Given the description of an element on the screen output the (x, y) to click on. 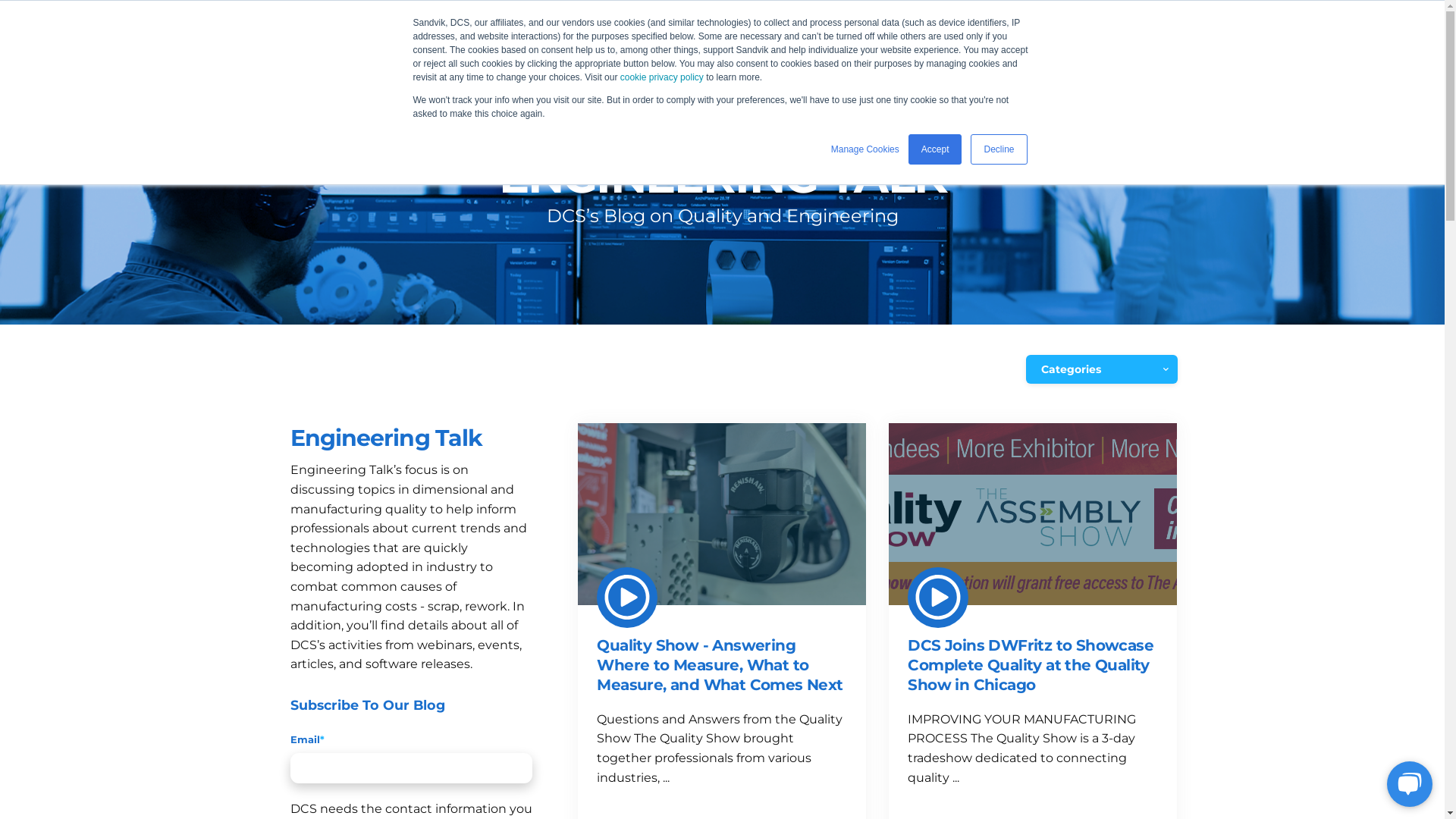
Company Element type: text (737, 59)
SUPPORT Element type: text (827, 14)
Services Element type: text (575, 59)
Products Element type: text (489, 59)
CONTACT Element type: text (911, 14)
Decline Element type: text (998, 149)
Accept Element type: text (935, 149)
cookie privacy policy Element type: text (661, 77)
BLOG Element type: text (979, 59)
Events Element type: text (654, 59)
Get Started Element type: text (1112, 59)
Manage Cookies Element type: text (865, 149)
Connect Element type: text (904, 59)
Careers Element type: text (822, 59)
